Given the description of an element on the screen output the (x, y) to click on. 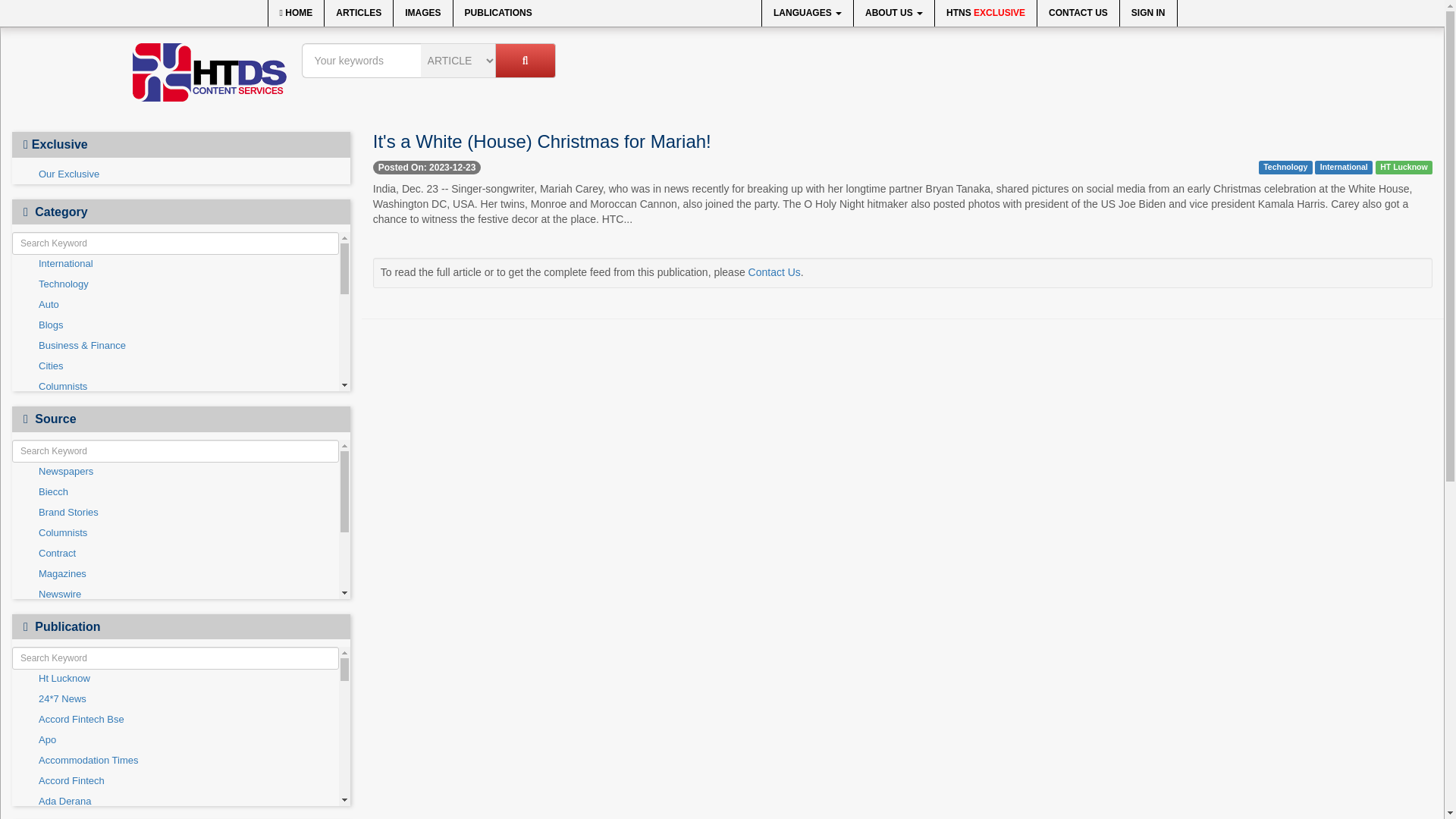
Entertainment (175, 448)
Auto (175, 304)
HTDS Content Services (209, 72)
ABOUT US (893, 13)
Government News (175, 468)
Politics (175, 550)
International (175, 263)
ARTICLES (358, 13)
Employment (175, 427)
Columnists (175, 386)
